Given the description of an element on the screen output the (x, y) to click on. 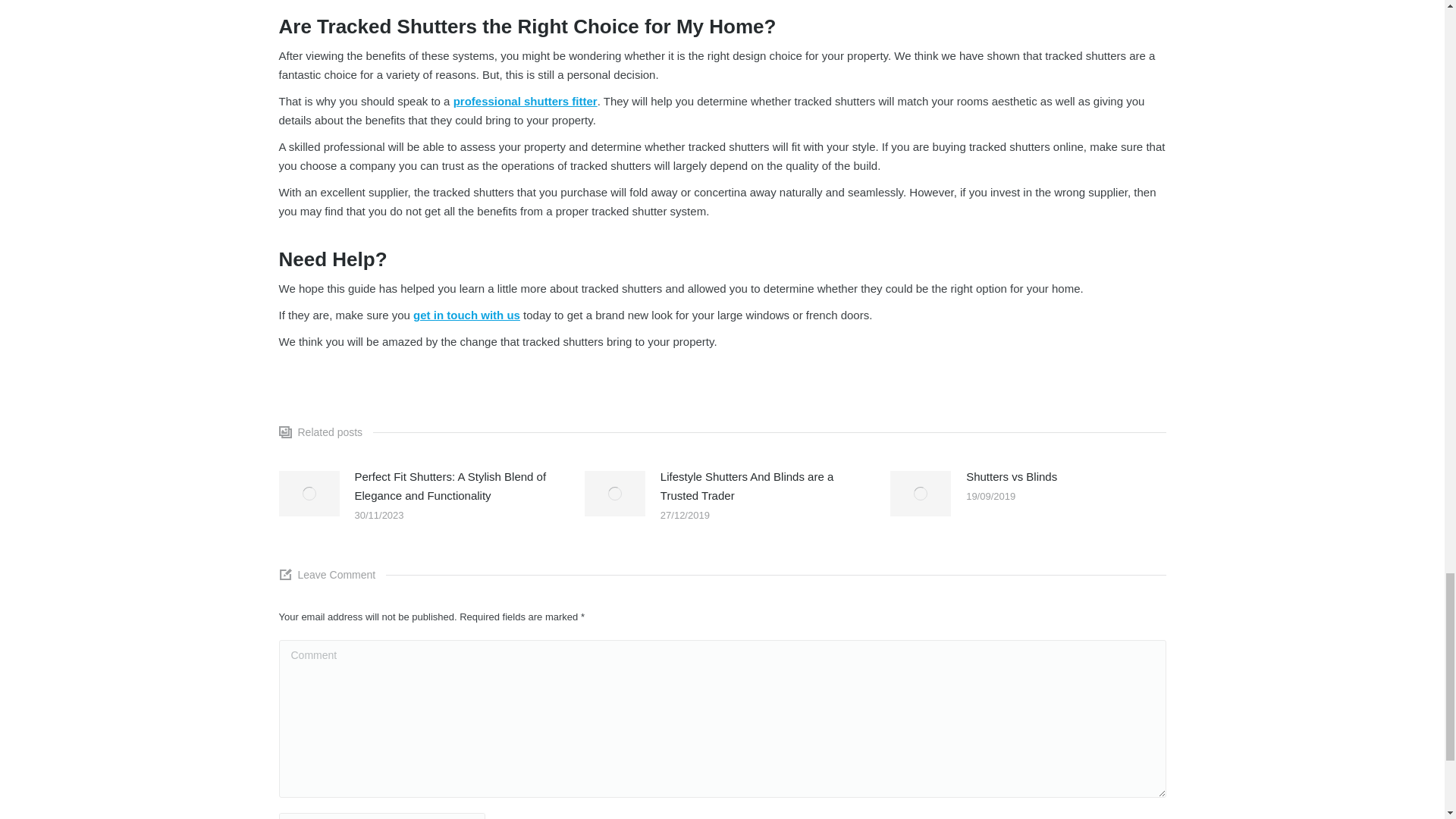
get in touch with us (466, 314)
professional shutters fitter (524, 101)
